Given the description of an element on the screen output the (x, y) to click on. 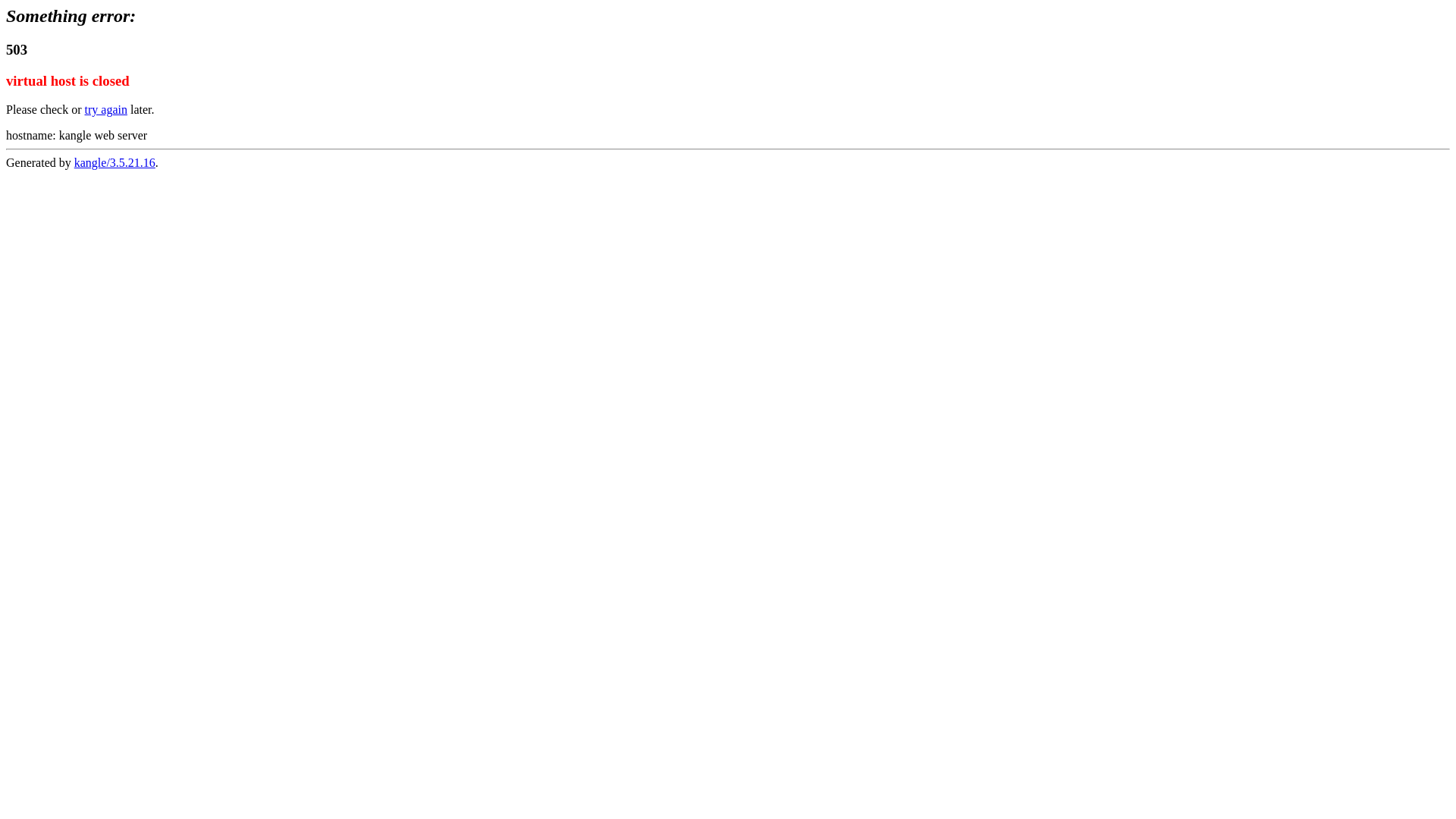
try again Element type: text (105, 109)
kangle/3.5.21.16 Element type: text (114, 162)
